Given the description of an element on the screen output the (x, y) to click on. 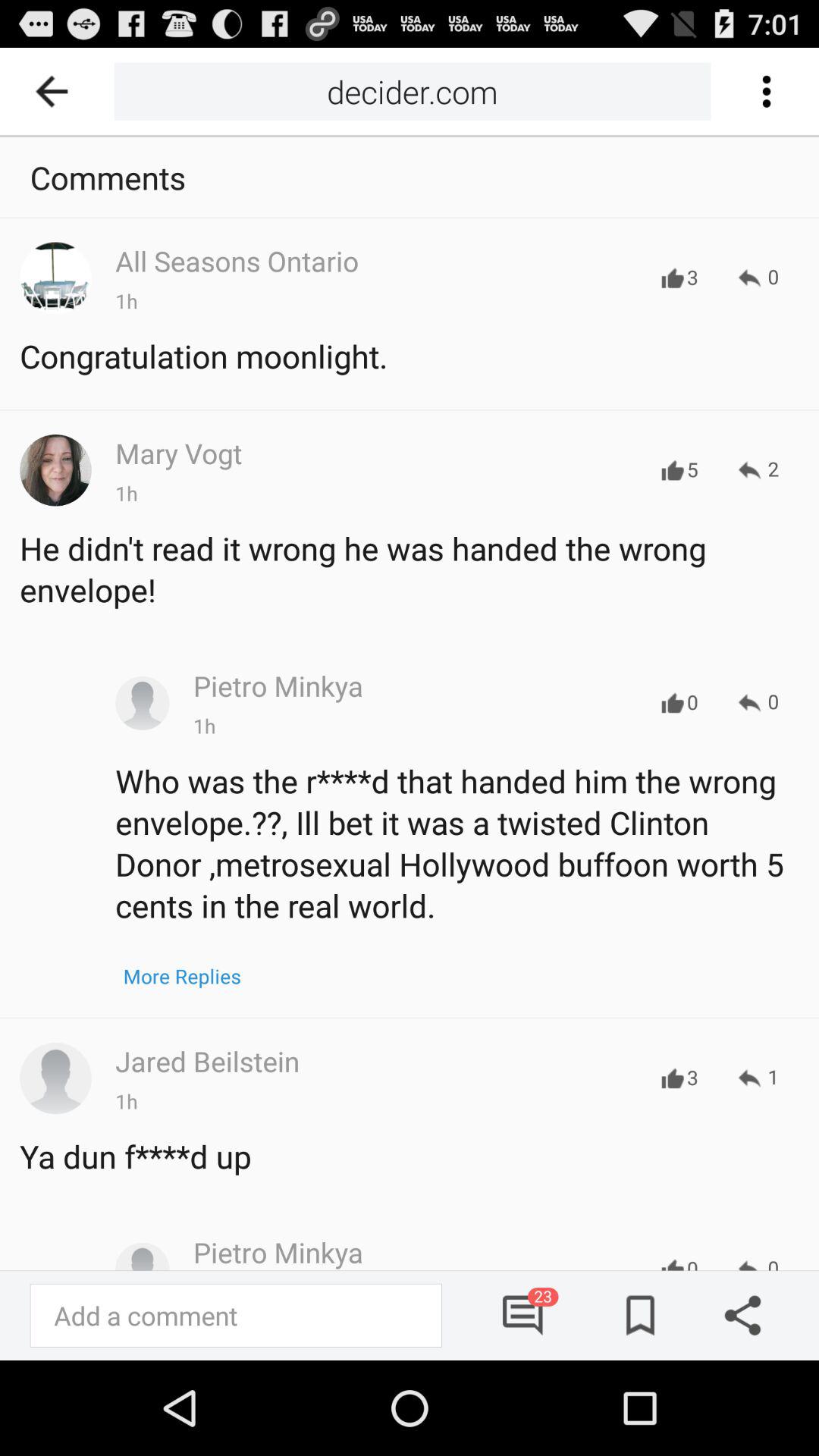
shareing icone (737, 1315)
